Given the description of an element on the screen output the (x, y) to click on. 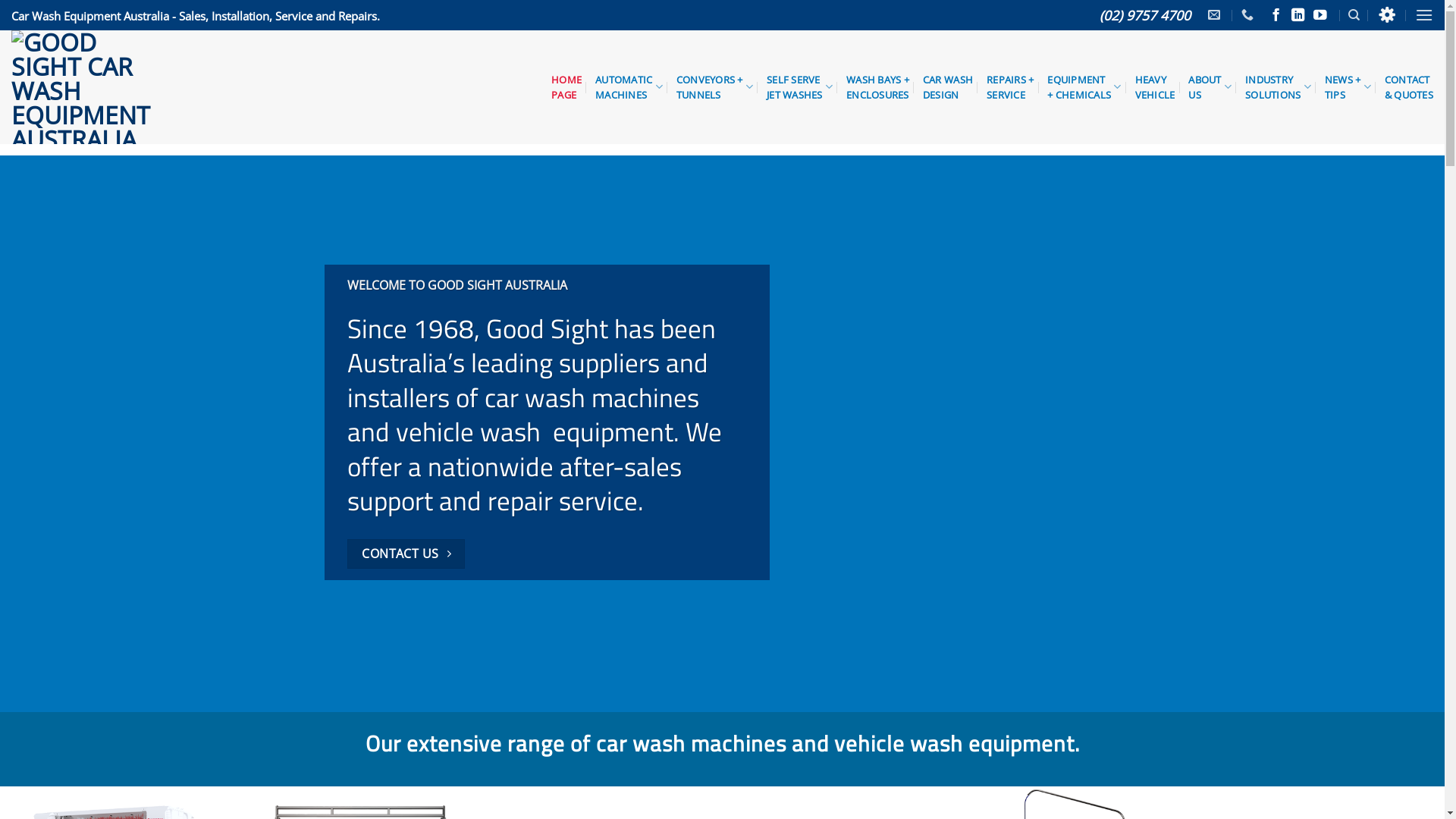
CONVEYORS +
TUNNELS Element type: text (714, 86)
CONTACT US Element type: text (406, 553)
REPAIRS +
SERVICE Element type: text (1009, 86)
ABOUT
US Element type: text (1209, 86)
0297574700 Element type: hover (1249, 14)
CONTACT
& QUOTES Element type: text (1408, 86)
sales@goodsight.com.au Element type: hover (1215, 14)
Follow on Facebook Element type: hover (1276, 15)
Follow on YouTube Element type: hover (1320, 15)
SELF SERVE
JET WASHES Element type: text (799, 86)
AUTOMATIC
MACHINES Element type: text (628, 86)
EQUIPMENT
+ CHEMICALS Element type: text (1083, 86)
Follow on LinkedIn Element type: hover (1298, 15)
HEAVY
VEHICLE Element type: text (1155, 86)
HOME
PAGE Element type: text (566, 86)
CAR WASH
DESIGN Element type: text (947, 86)
SUBMIT Element type: text (827, 628)
NEWS +
TIPS Element type: text (1347, 86)
INDUSTRY
SOLUTIONS Element type: text (1278, 86)
WASH BAYS +
ENCLOSURES Element type: text (877, 86)
